Given the description of an element on the screen output the (x, y) to click on. 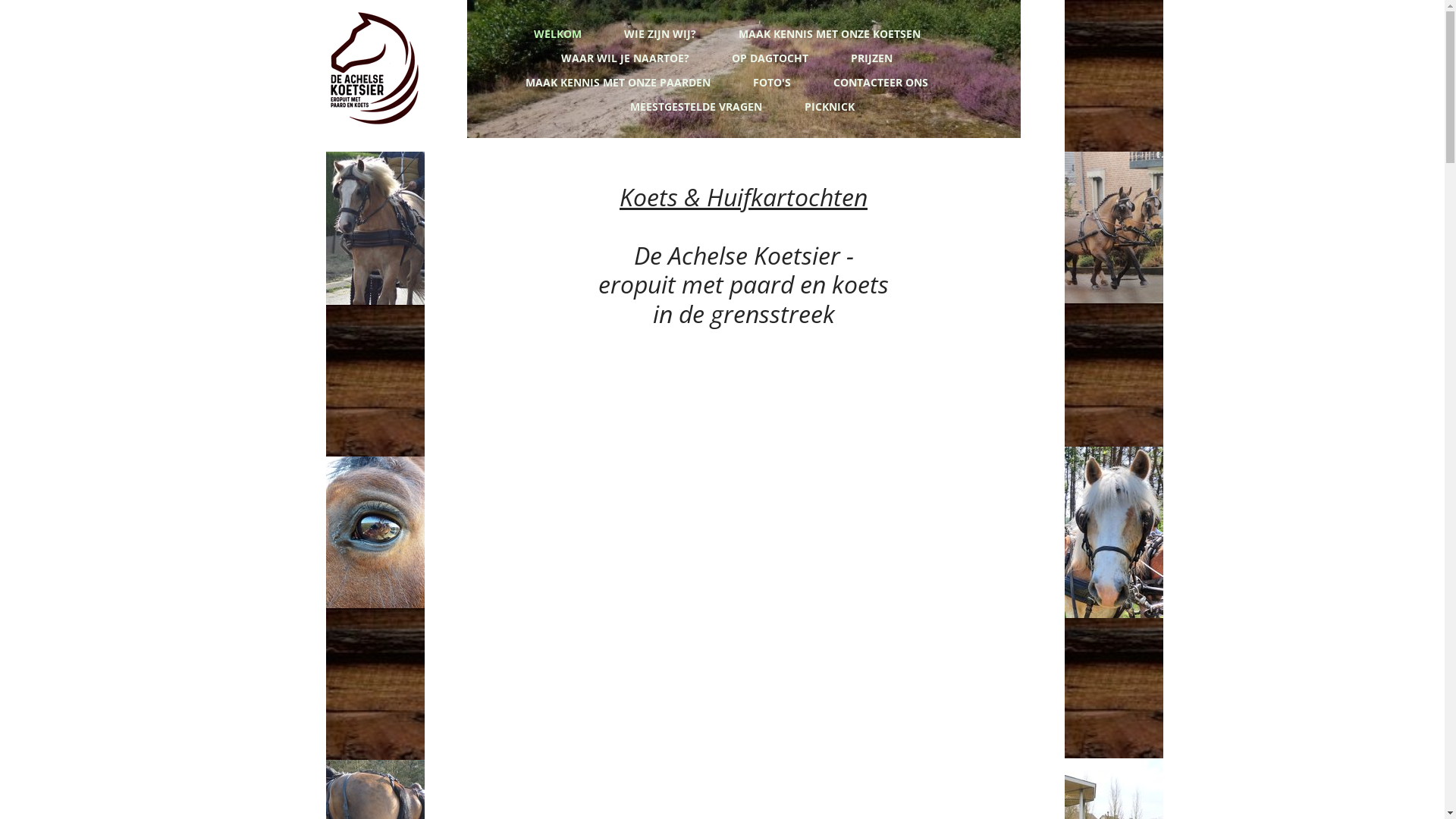
CONTACTEER ONS Element type: text (881, 81)
PRIJZEN Element type: text (873, 56)
PICKNICK Element type: text (830, 105)
WIE ZIJN WIJ? Element type: text (660, 32)
OP DAGTOCHT Element type: text (771, 56)
WAAR WIL JE NAARTOE? Element type: text (626, 56)
WELKOM Element type: text (559, 32)
MEESTGESTELDE VRAGEN Element type: text (696, 105)
FOTO'S Element type: text (773, 81)
MAAK KENNIS MET ONZE KOETSEN Element type: text (831, 32)
MAAK KENNIS MET ONZE PAARDEN Element type: text (619, 81)
